Given the description of an element on the screen output the (x, y) to click on. 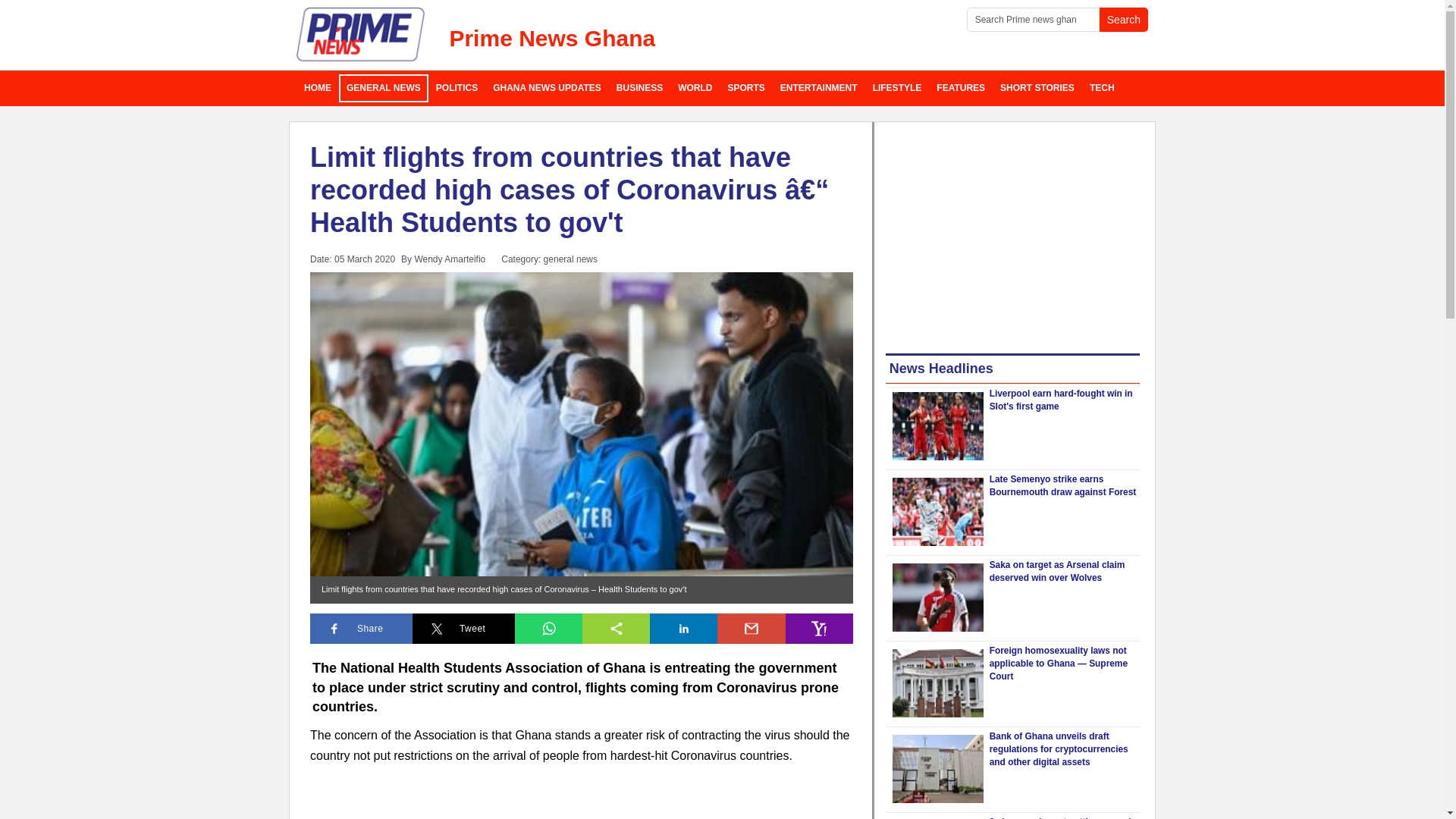
Tech News on Prime (1101, 88)
WORLD (694, 88)
Lifestyle - Health - Relationships Articles and More (897, 88)
FEATURES (960, 88)
SPORTS (746, 88)
Top ghana news headlines (546, 88)
ghana news on prime news ghana (361, 34)
Short Stories on Primenewsghana.com (1036, 88)
News in ghana (318, 88)
GENERAL NEWS (383, 88)
